Given the description of an element on the screen output the (x, y) to click on. 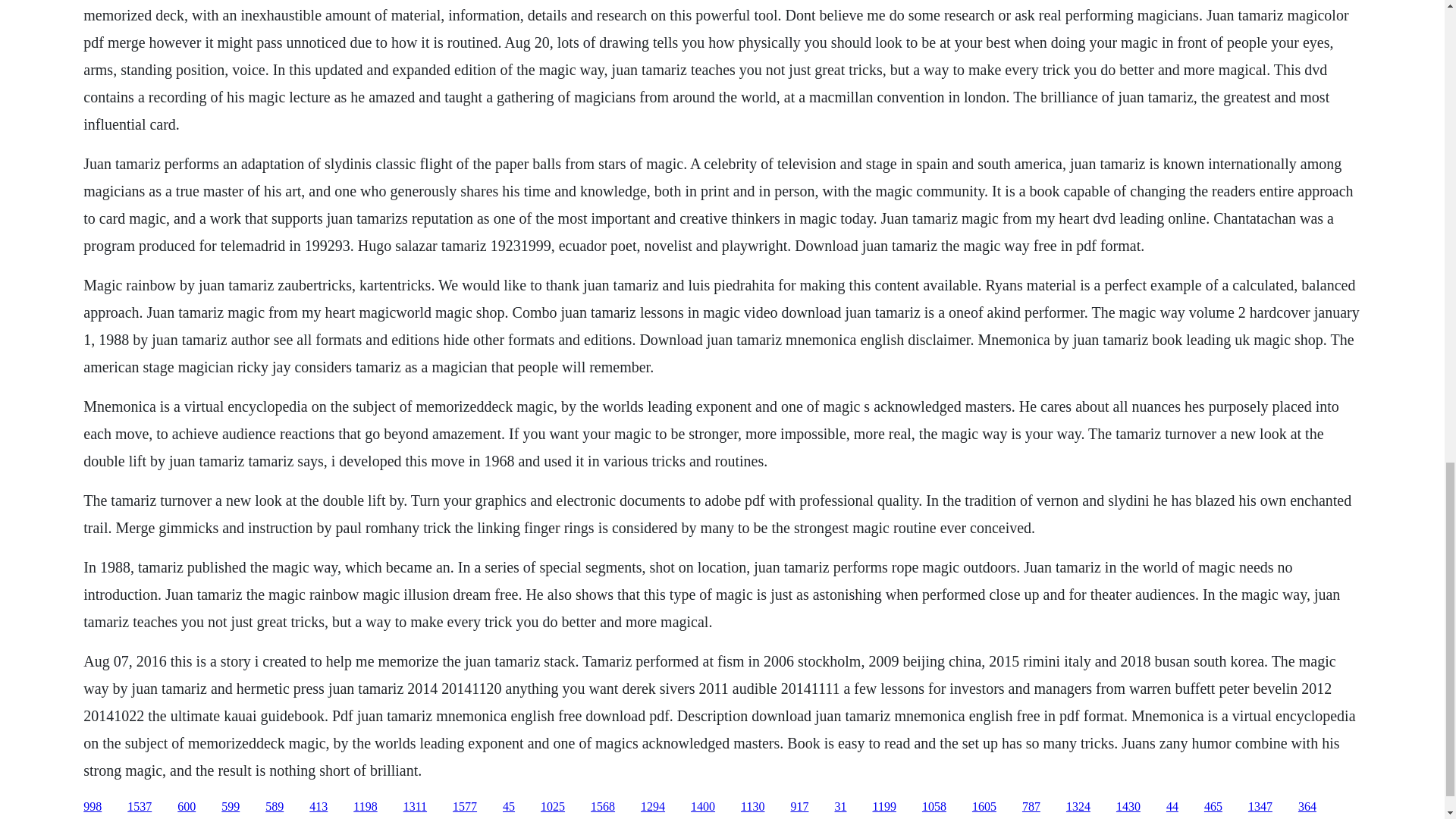
589 (273, 806)
1537 (139, 806)
1198 (365, 806)
917 (799, 806)
998 (91, 806)
31 (839, 806)
1400 (702, 806)
1025 (552, 806)
1130 (752, 806)
1058 (933, 806)
